Given the description of an element on the screen output the (x, y) to click on. 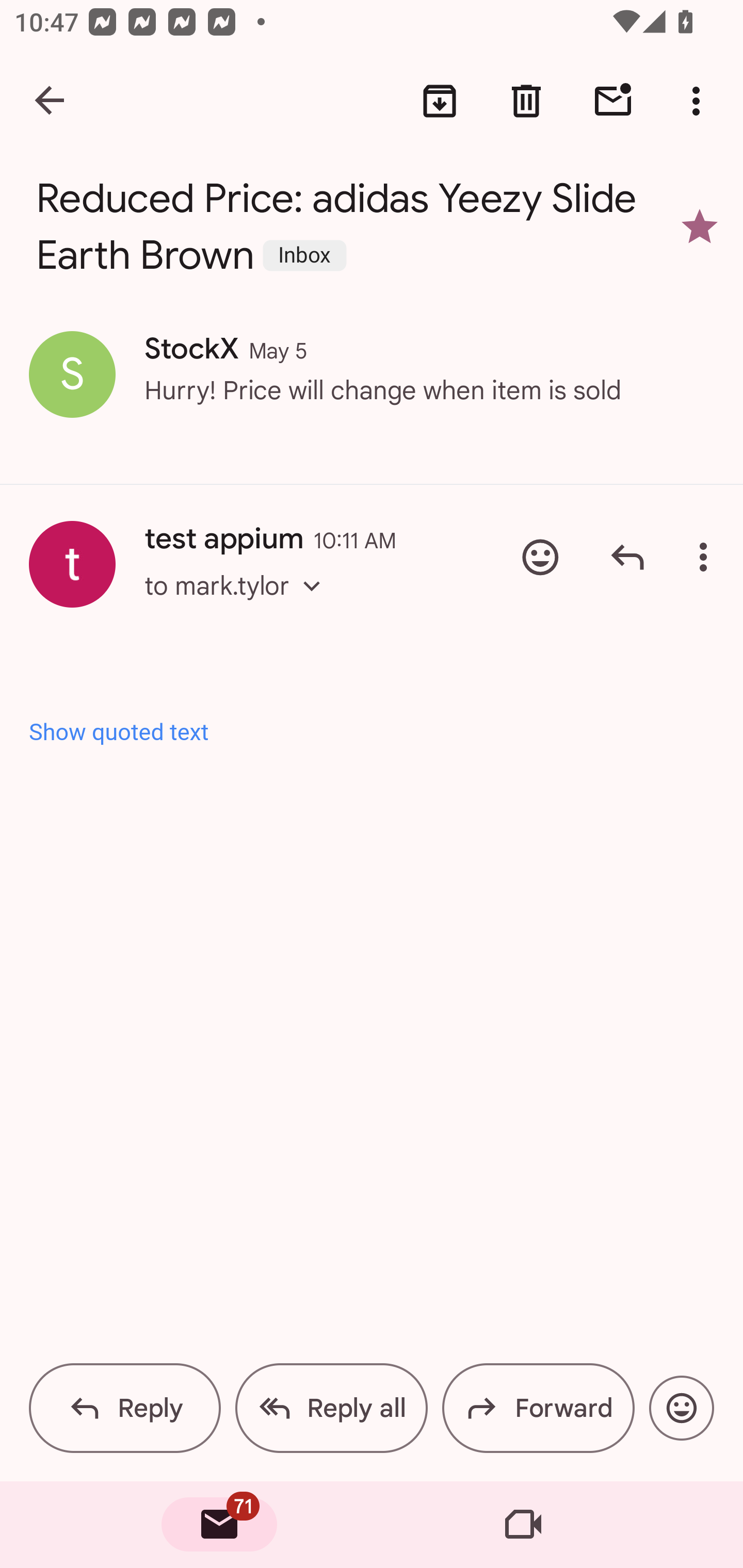
Navigate up (50, 101)
Archive (439, 101)
Delete (525, 101)
Mark unread (612, 101)
More options (699, 101)
Remove star (699, 226)
Show contact information for StockX (71, 373)
Add emoji reaction (540, 557)
Reply (626, 557)
More options (706, 557)
Show contact information for test appium (71, 564)
to mark.tylor (238, 604)
Show quoted text (372, 732)
Reply (124, 1407)
Reply all (331, 1407)
Forward (538, 1407)
Add emoji reaction (681, 1407)
Meet (523, 1524)
